Given the description of an element on the screen output the (x, y) to click on. 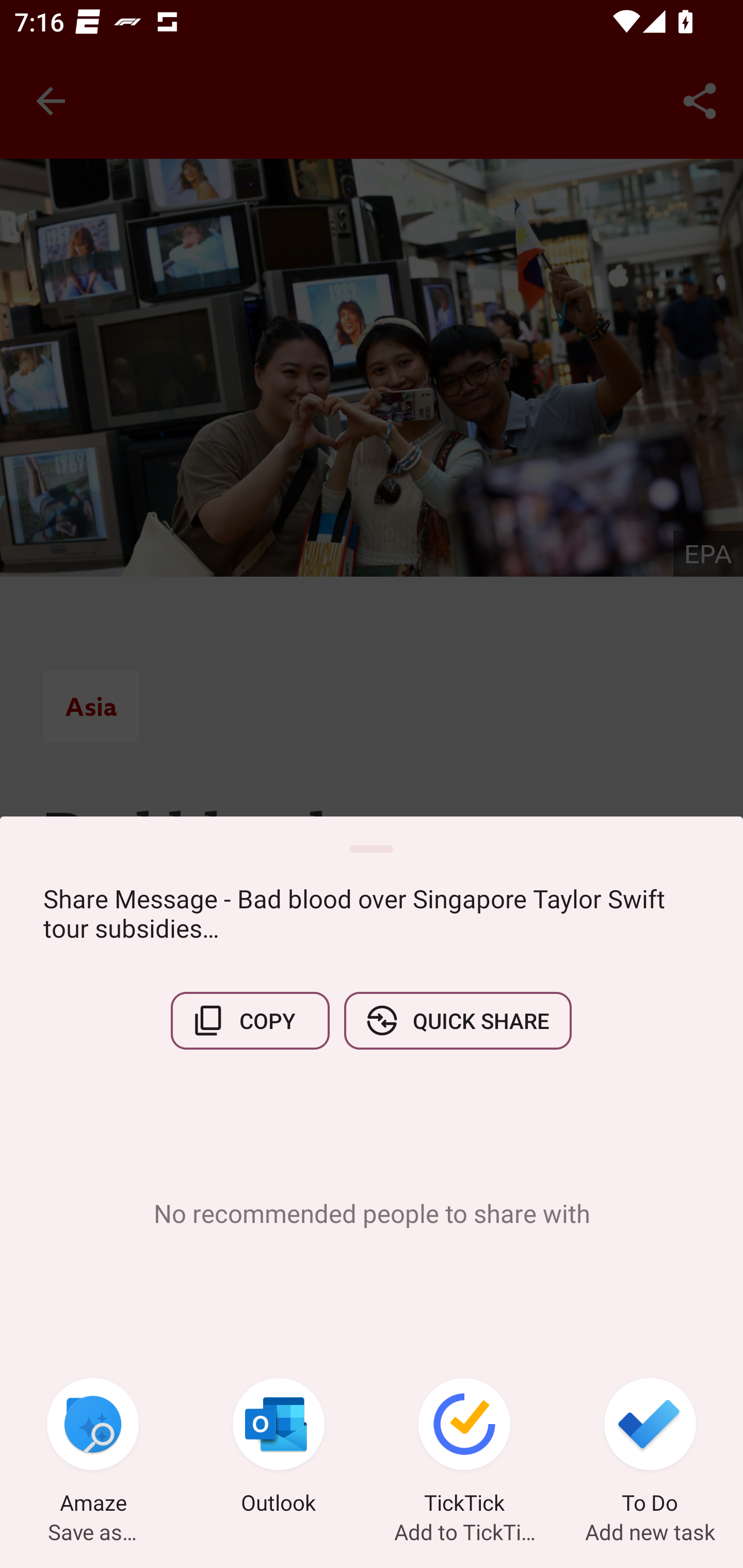
COPY (249, 1020)
QUICK SHARE (457, 1020)
Amaze Save as… (92, 1448)
Outlook (278, 1448)
TickTick Add to TickTick (464, 1448)
To Do Add new task (650, 1448)
